Given the description of an element on the screen output the (x, y) to click on. 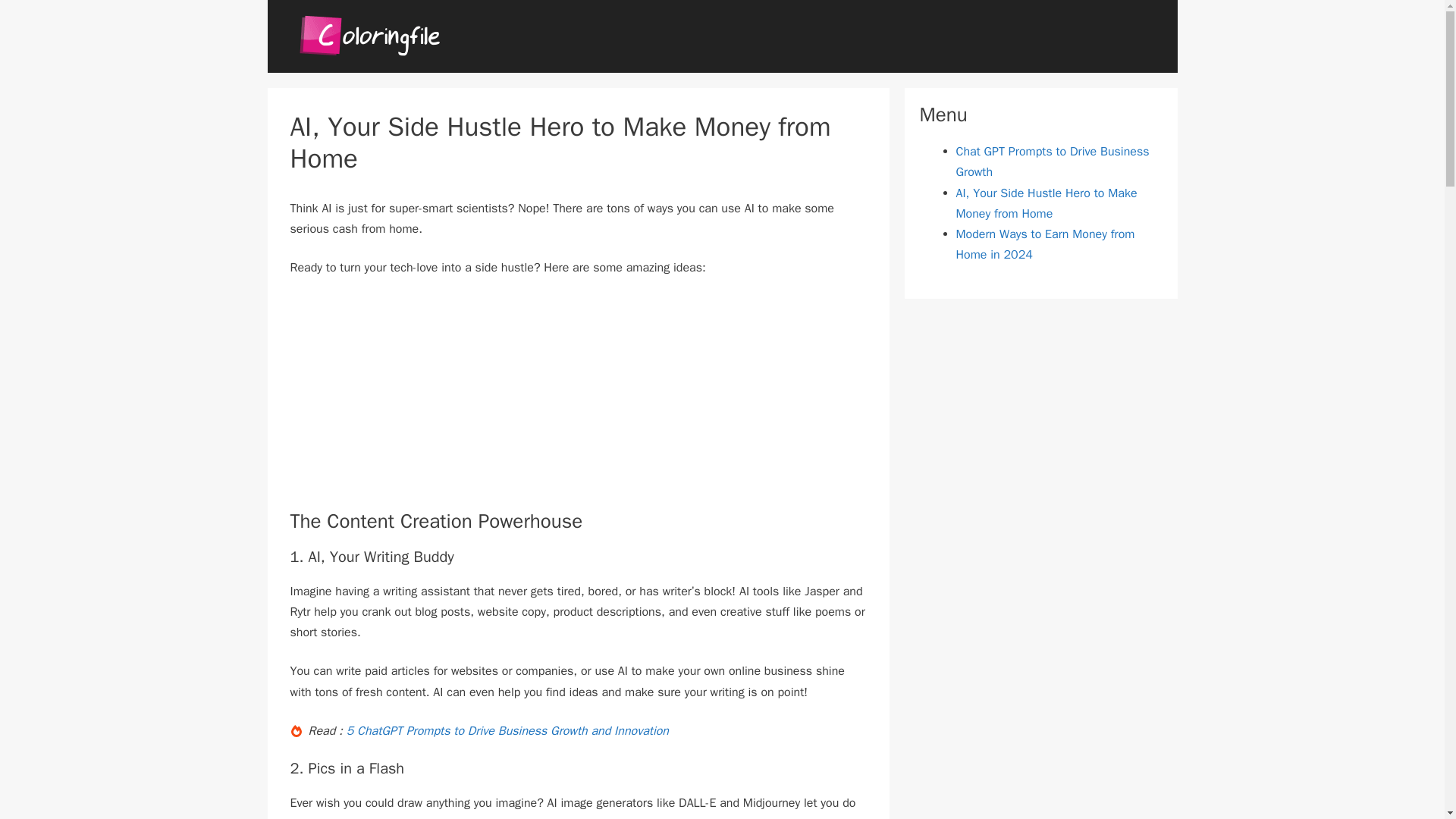
5 ChatGPT Prompts to Drive Business Growth and Innovation (507, 730)
Modern Ways to Earn Money from Home in 2024 (1044, 244)
Chat GPT Prompts to Drive Business Growth (1051, 161)
Advertisement (577, 403)
AI, Your Side Hustle Hero to Make Money from Home (1046, 203)
